Given the description of an element on the screen output the (x, y) to click on. 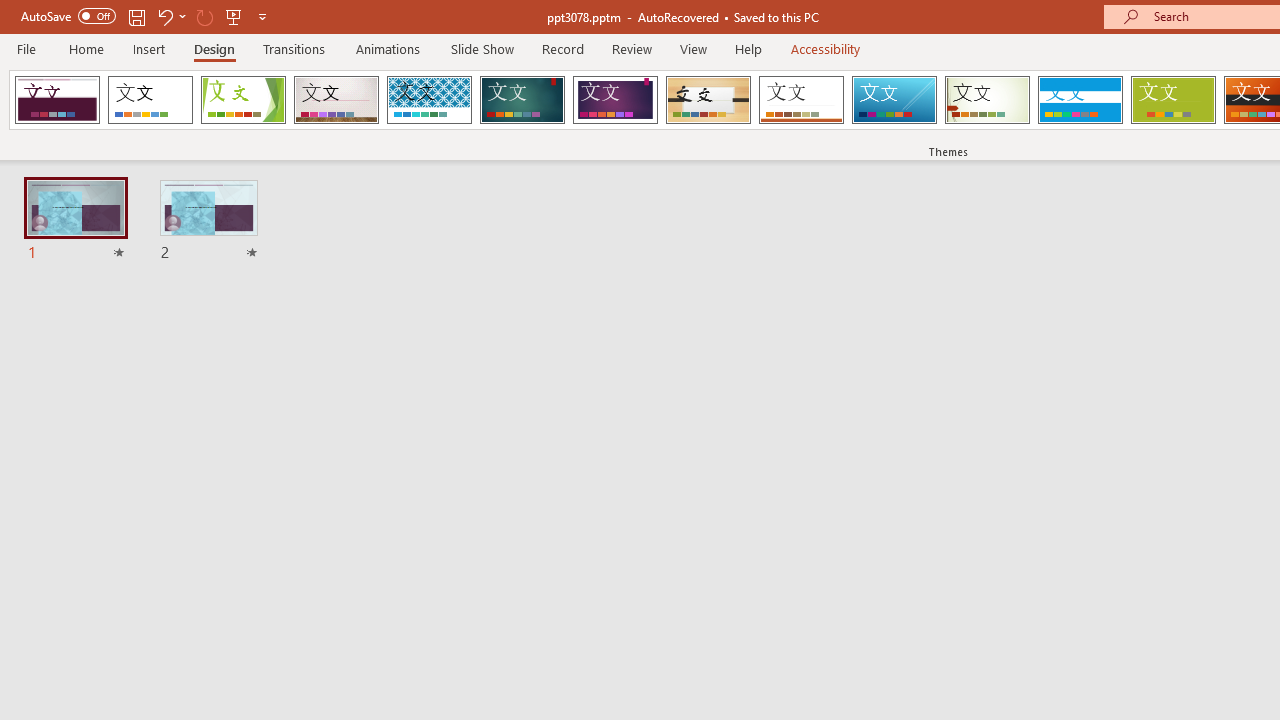
Wisp (987, 100)
Integral (429, 100)
Ion Boardroom (615, 100)
Droplet (57, 100)
Retrospect (801, 100)
